Given the description of an element on the screen output the (x, y) to click on. 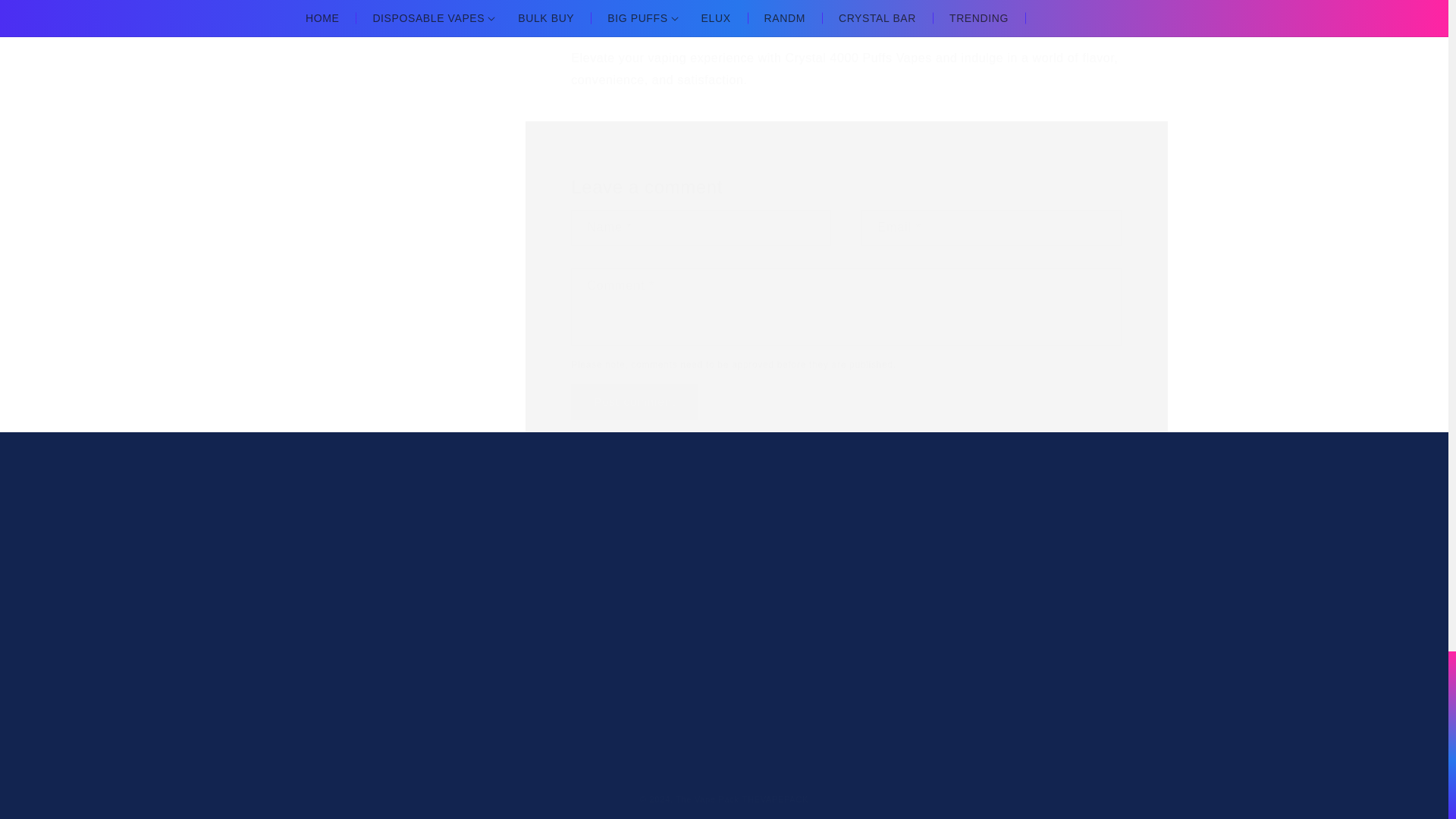
Post comment (409, 611)
